Given the description of an element on the screen output the (x, y) to click on. 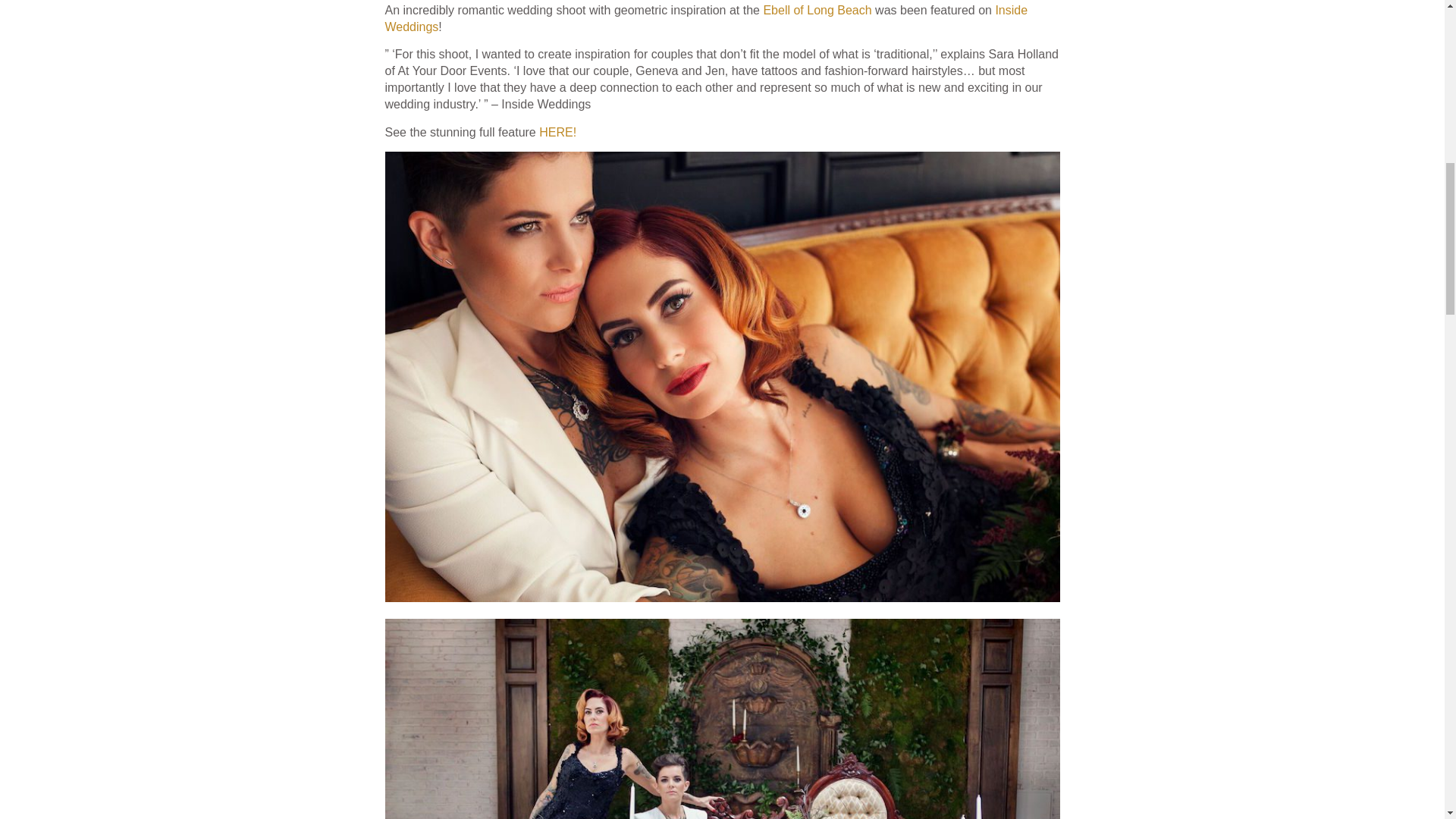
Inside Weddings (706, 18)
Ebell of Long Beach (816, 10)
HERE! (557, 132)
